Given the description of an element on the screen output the (x, y) to click on. 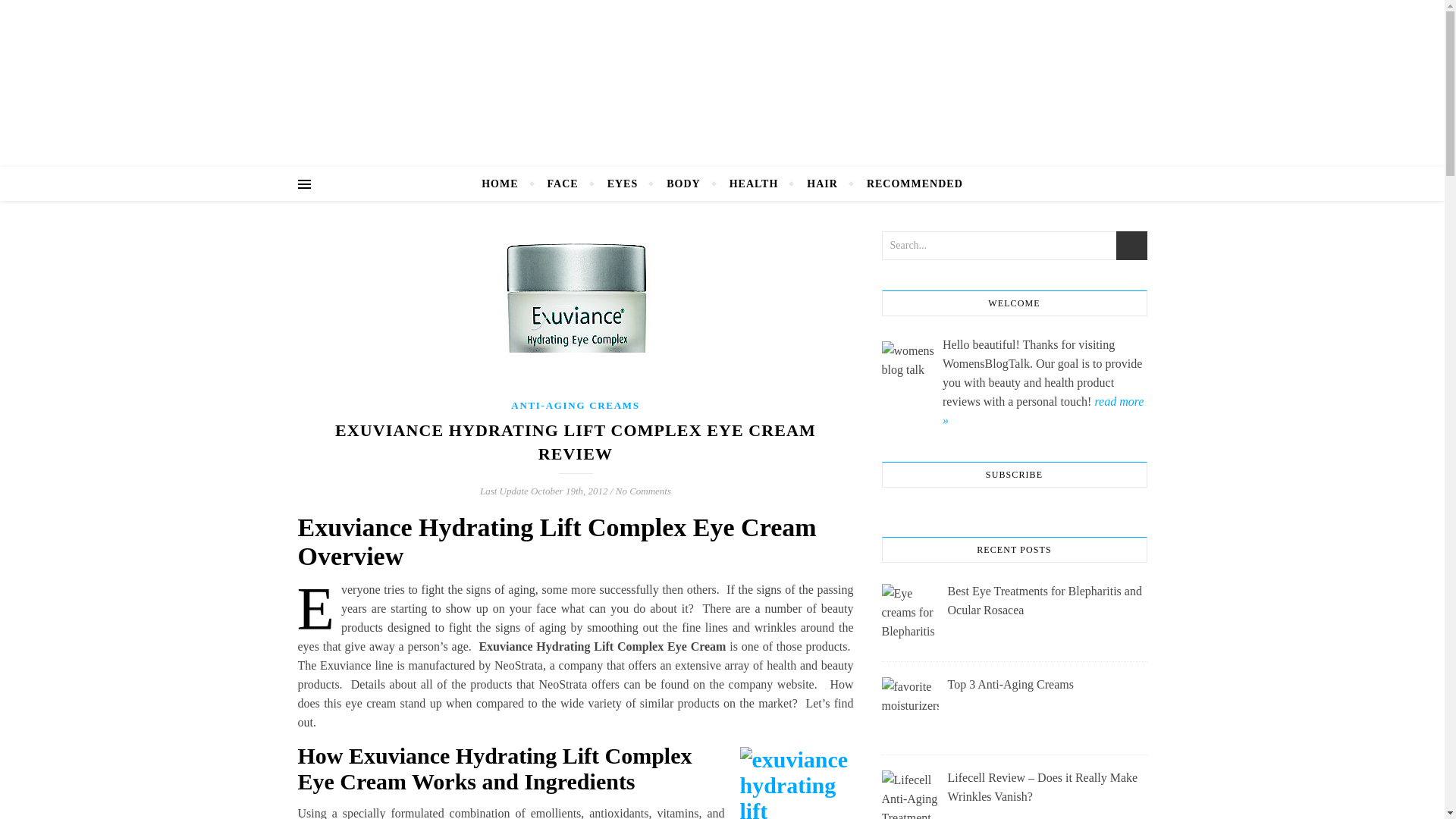
HEALTH (754, 183)
Women's Blog Talk (721, 68)
HOME (506, 183)
EYES (622, 183)
FACE (562, 183)
BODY (683, 183)
